Given the description of an element on the screen output the (x, y) to click on. 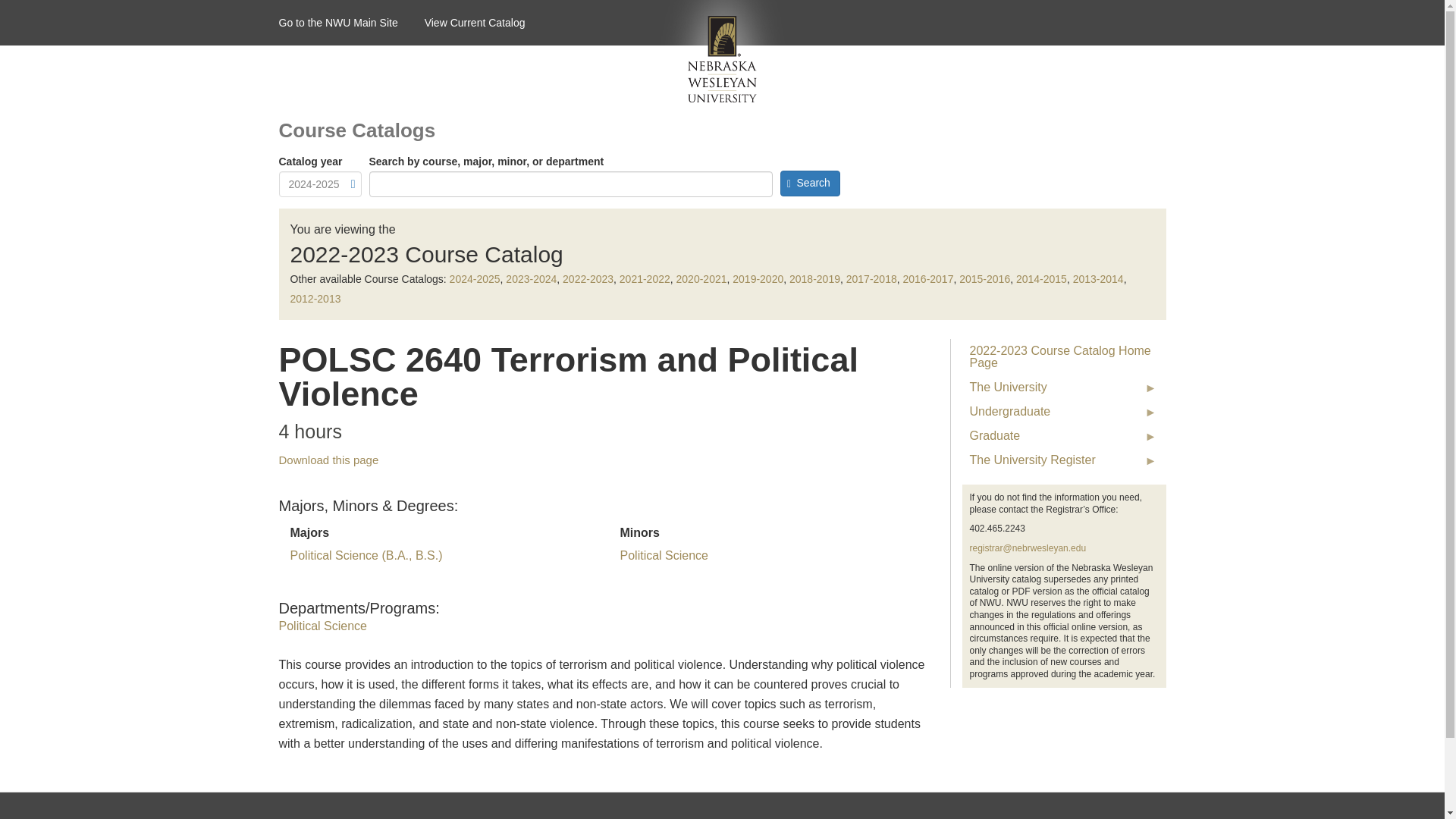
2018-2019 (814, 278)
2022-2023 Course Catalog Home Page (1063, 357)
View Current Catalog (488, 22)
2024-2025 (474, 278)
Go to the NWU Main Site (352, 22)
2012-2013 (314, 298)
2017-2018 (870, 278)
2019-2020 (757, 278)
2014-2015 (1041, 278)
Political Science (323, 625)
2022-2023 (587, 278)
2016-2017 (927, 278)
Download this page (328, 459)
2013-2014 (1098, 278)
